Given the description of an element on the screen output the (x, y) to click on. 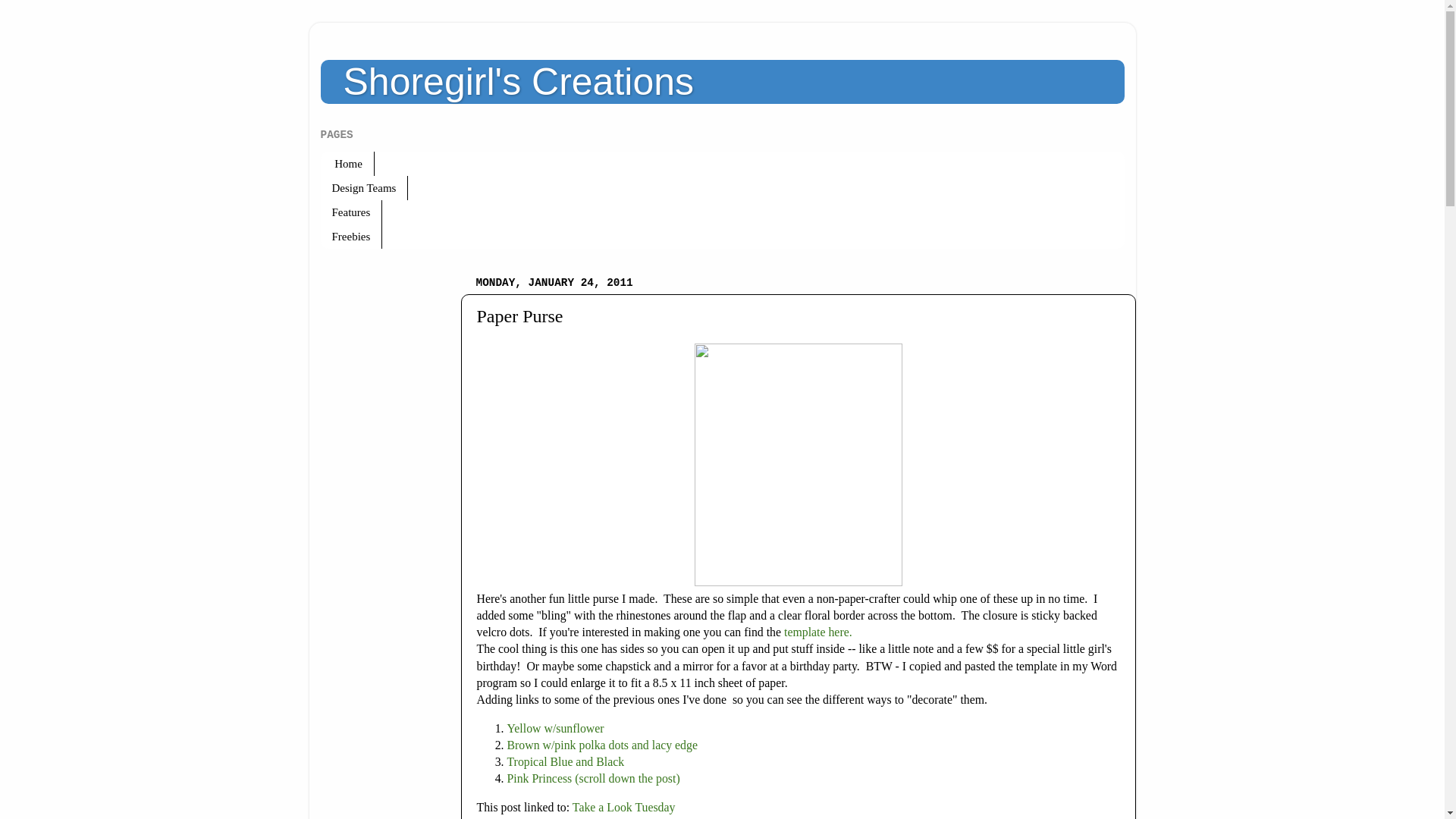
Home (347, 163)
Design Teams (363, 187)
Take a Look Tuesday  (625, 807)
Tropical Blue and Black (565, 761)
Freebies (350, 236)
Shoregirl's Creations (518, 81)
Features (350, 211)
template here. (817, 631)
